Given the description of an element on the screen output the (x, y) to click on. 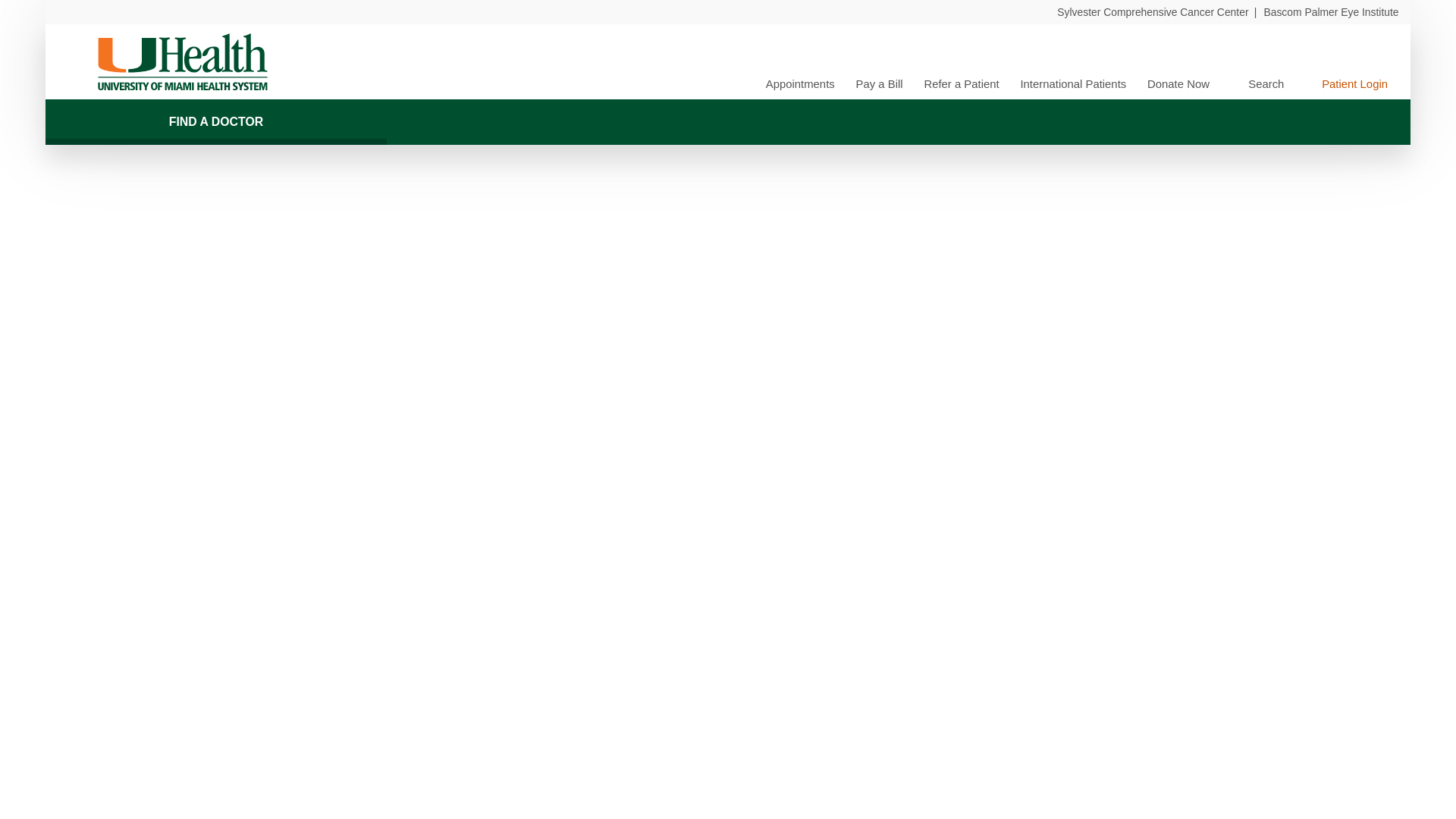
Bascom Palmer Eye Institute (1330, 11)
Search (1257, 83)
logo (182, 61)
University of Miami Health System (182, 61)
International Patients (1072, 83)
Refer a Patient (960, 83)
Appointments (799, 83)
Patient Login (1345, 83)
Pay a Bill (879, 83)
logo (182, 61)
Sylvester Comprehensive Cancer Center (1152, 11)
Donate Now (1178, 83)
